Given the description of an element on the screen output the (x, y) to click on. 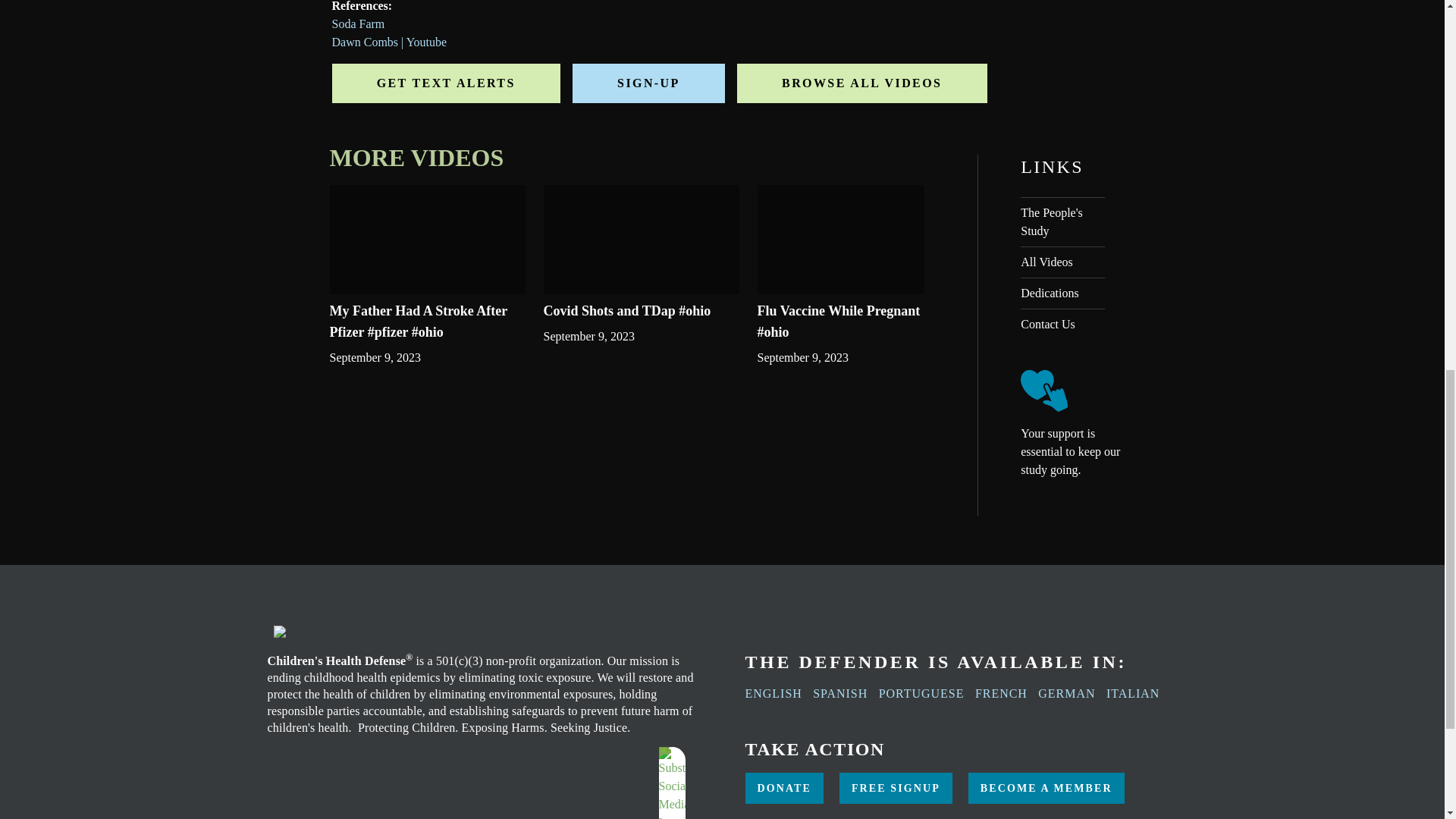
Soda Farm (358, 23)
SIGN-UP (648, 83)
GET TEXT ALERTS (445, 83)
BROWSE ALL VIDEOS (861, 83)
